Given the description of an element on the screen output the (x, y) to click on. 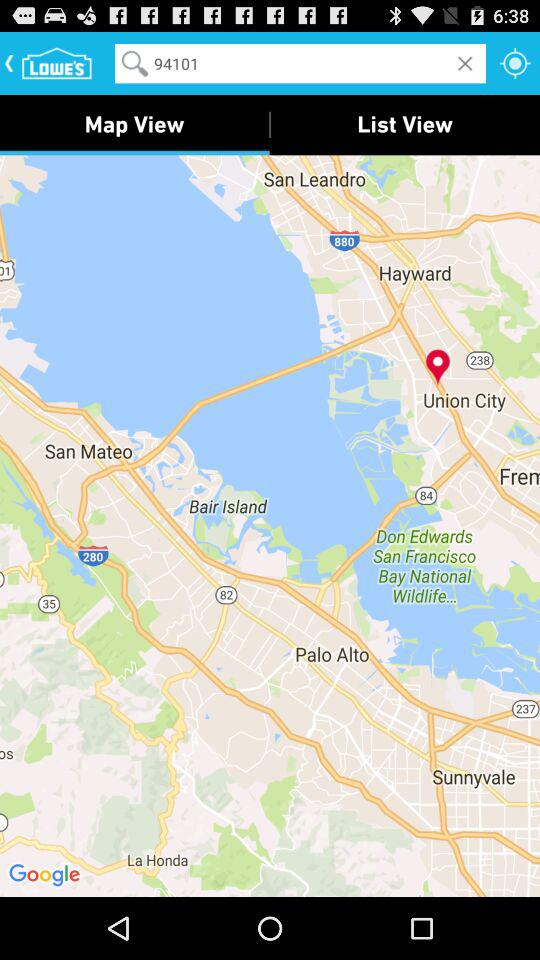
launch icon next to the 94101 item (515, 62)
